Given the description of an element on the screen output the (x, y) to click on. 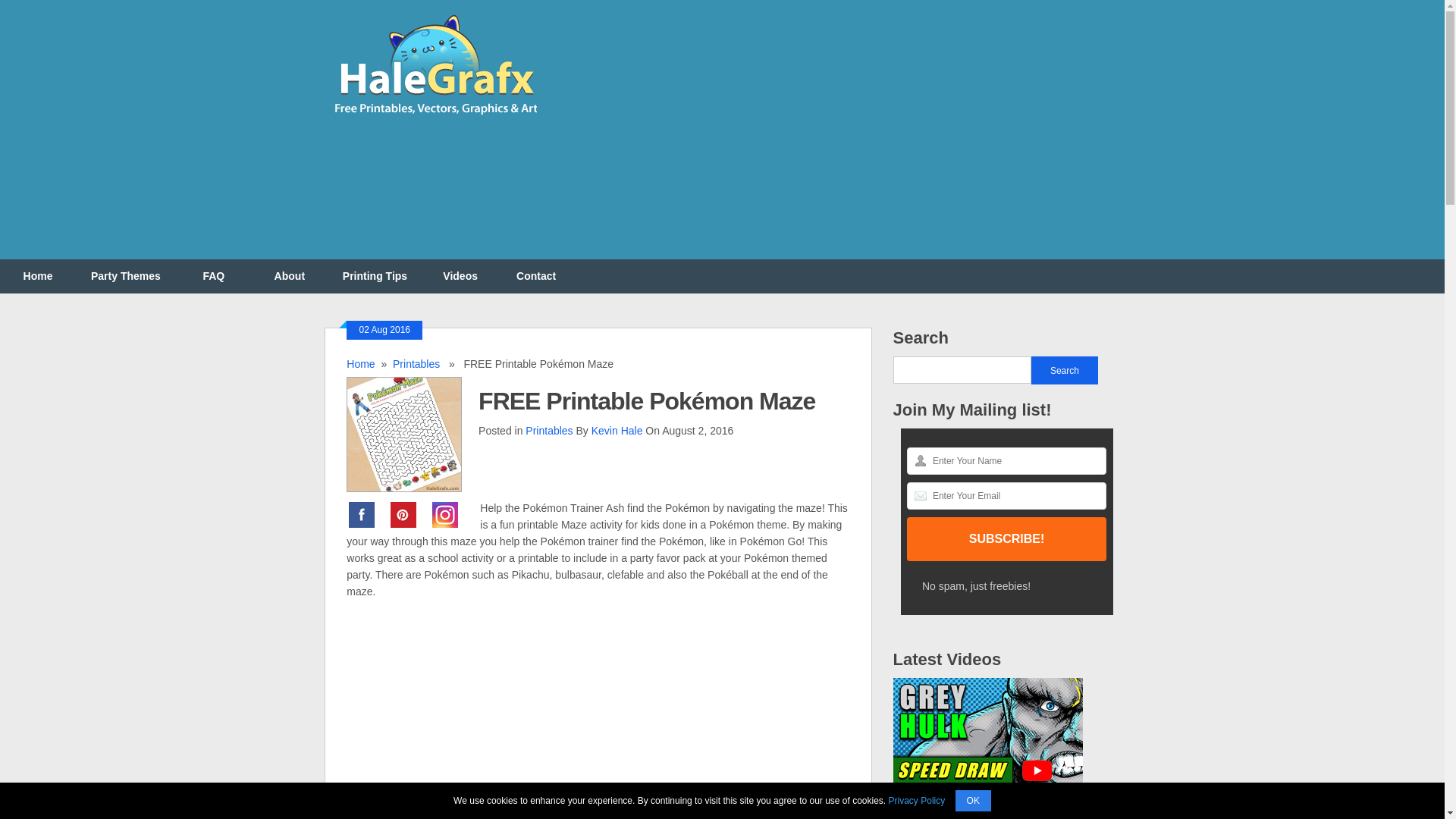
HaleGrafx Printing Tips (374, 276)
Search (1064, 370)
HaleGrafx Videos (459, 276)
Posts by Kevin Hale (617, 430)
FAQ (213, 276)
Advertisement (845, 138)
Printing Tips (374, 276)
Contact (535, 276)
About (289, 276)
SUBSCRIBE! (1006, 538)
